Given the description of an element on the screen output the (x, y) to click on. 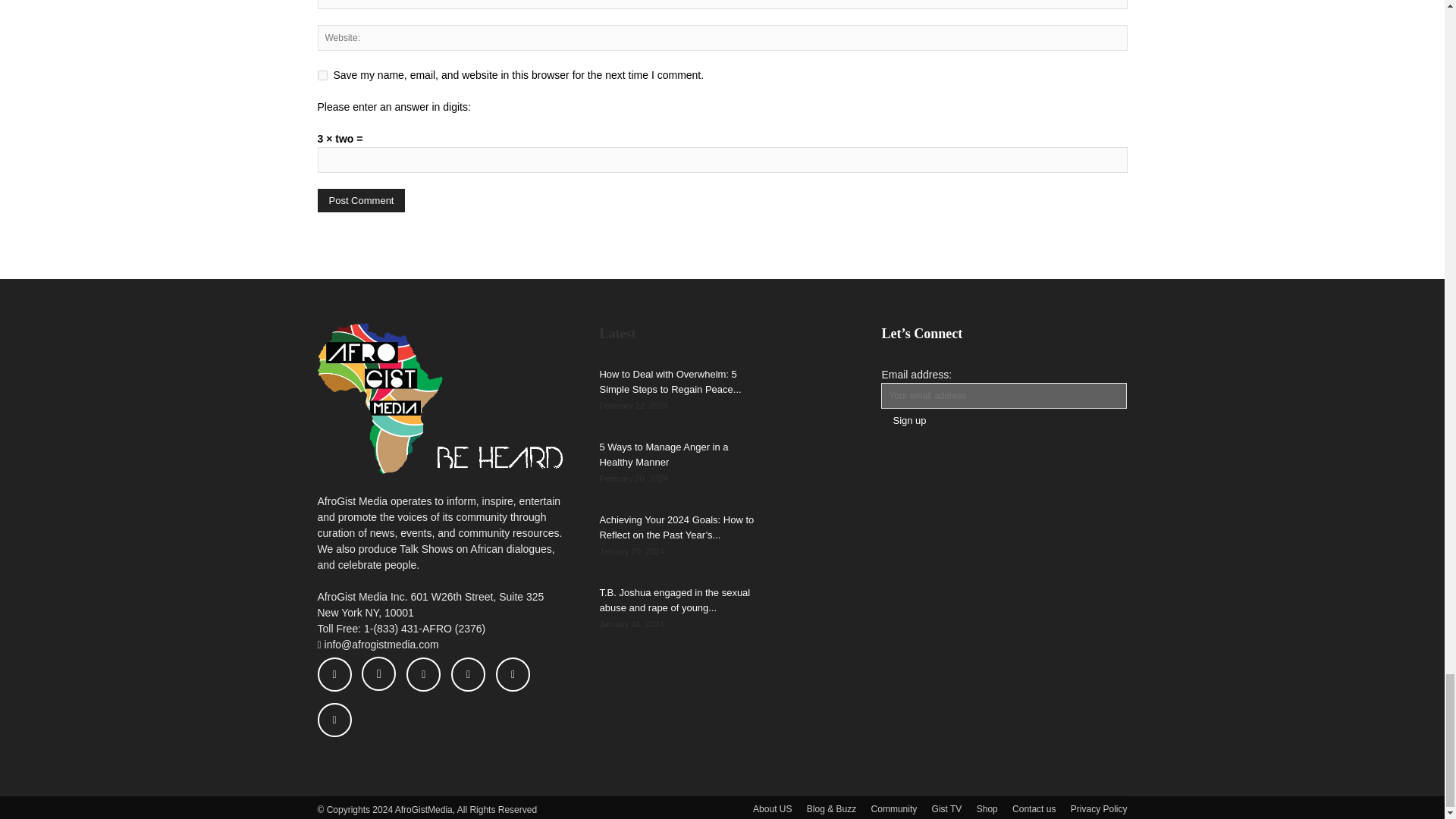
yes (321, 75)
Post Comment (360, 200)
Sign up (908, 420)
